Given the description of an element on the screen output the (x, y) to click on. 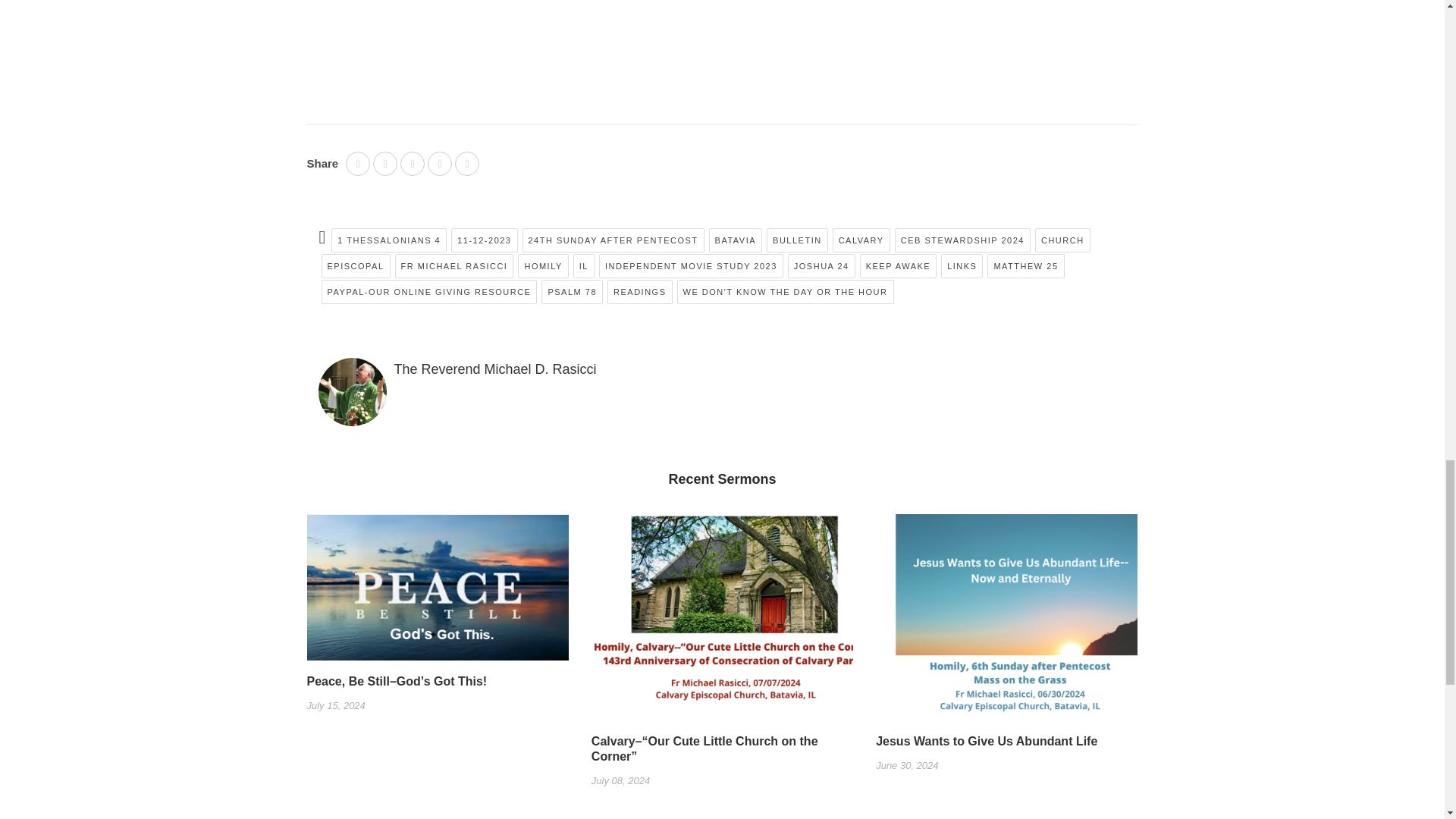
Jesus Wants to Give Us Abundant Life (1006, 623)
Calvary--"Our Cute Little Church on the Corner" (722, 623)
Peace, Be Still--God's Got This! (436, 593)
